Given the description of an element on the screen output the (x, y) to click on. 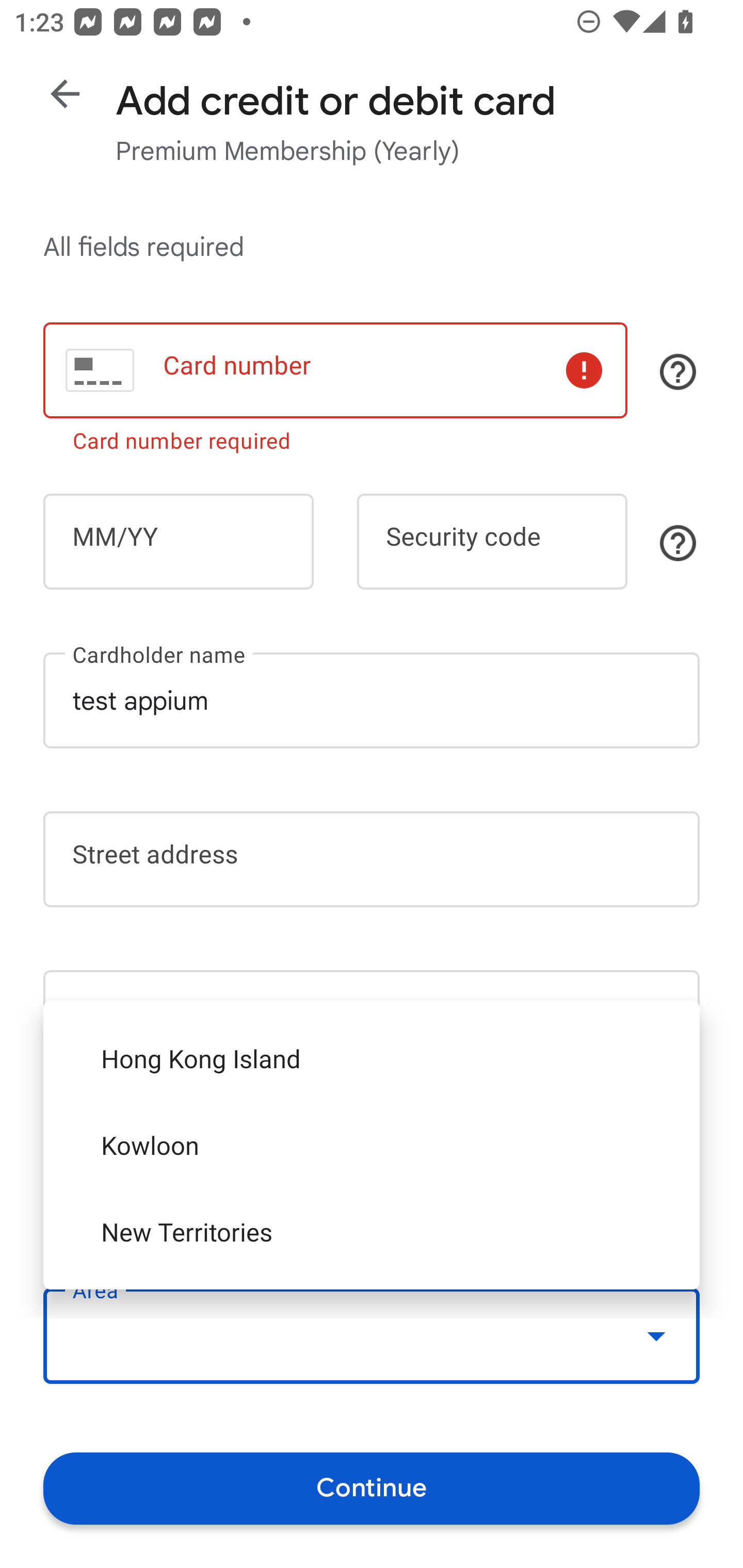
Back (64, 93)
Card number (335, 370)
Button, shows cards that are accepted for payment (677, 371)
Expiration date, 2 digit month, 2 digit year (178, 541)
Security code (492, 541)
Security code help (677, 543)
test appium (371, 699)
Street address (371, 858)
Area (371, 1335)
Show dropdown menu (655, 1335)
Continue (371, 1487)
